Given the description of an element on the screen output the (x, y) to click on. 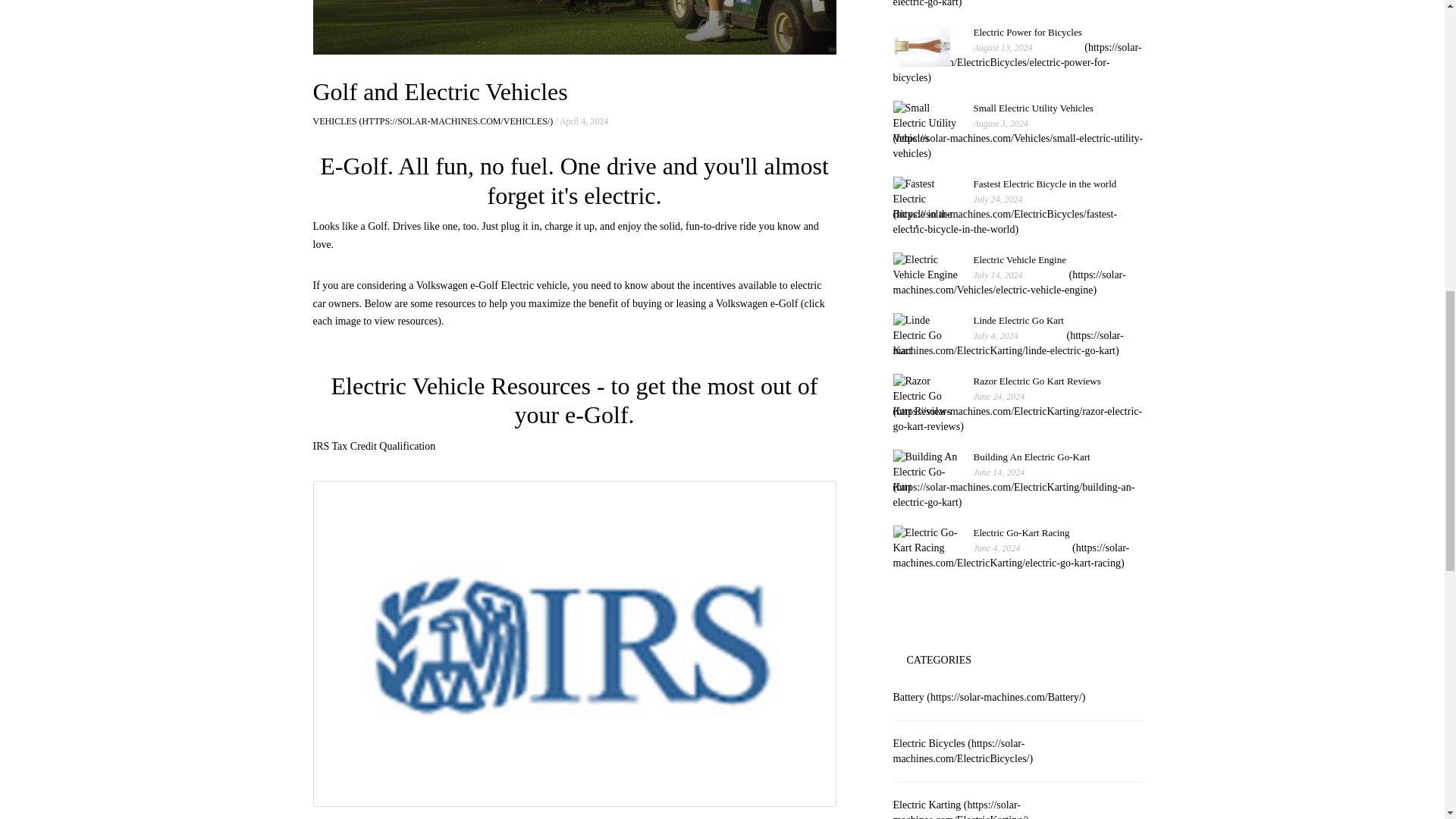
View all posts filed under Electric Bicycles (1012, 3)
Electric Karting (963, 750)
Electric Bicycles (1009, 282)
View all posts filed under Electric Karting (961, 809)
